Given the description of an element on the screen output the (x, y) to click on. 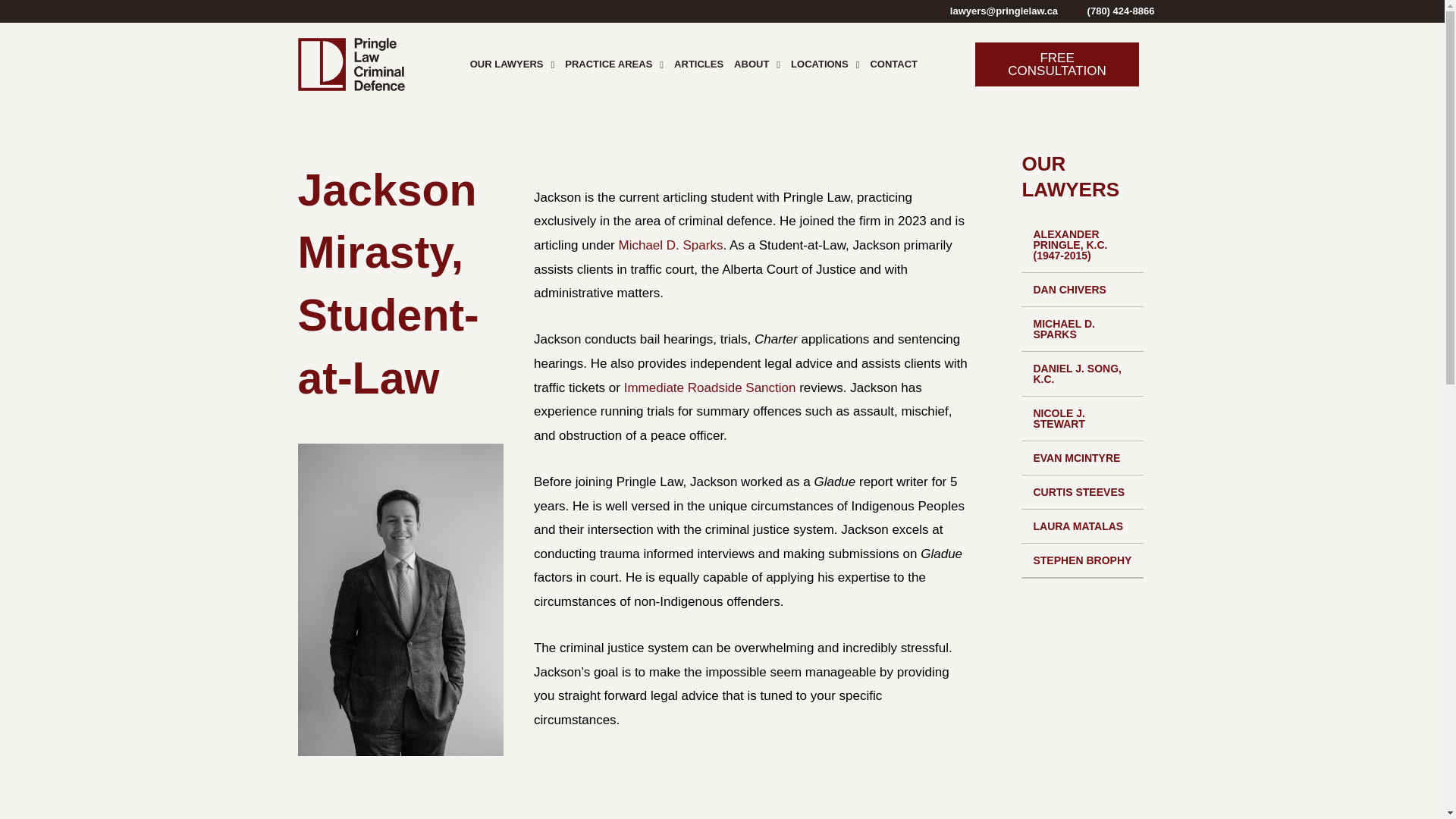
PRACTICE AREAS (613, 63)
ABOUT (757, 63)
LOCATIONS (825, 63)
ARTICLES (698, 63)
OUR LAWYERS (512, 63)
